Given the description of an element on the screen output the (x, y) to click on. 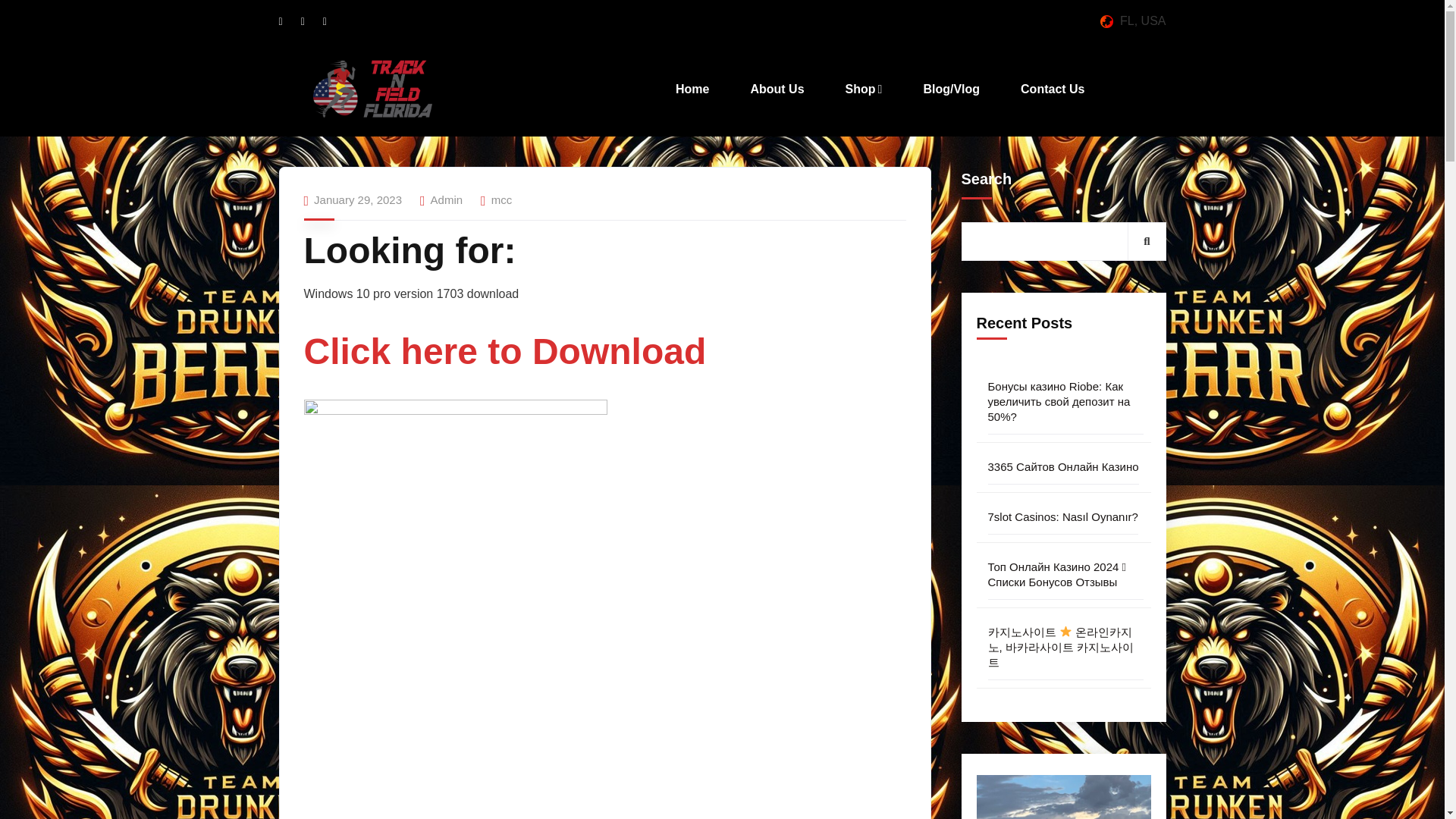
Posts by admin (446, 199)
Admin (446, 199)
Track Lives Matter (371, 88)
Click here to Download (504, 359)
mcc (502, 198)
About Us (776, 89)
Search (1146, 240)
Contact Us (1051, 89)
